Given the description of an element on the screen output the (x, y) to click on. 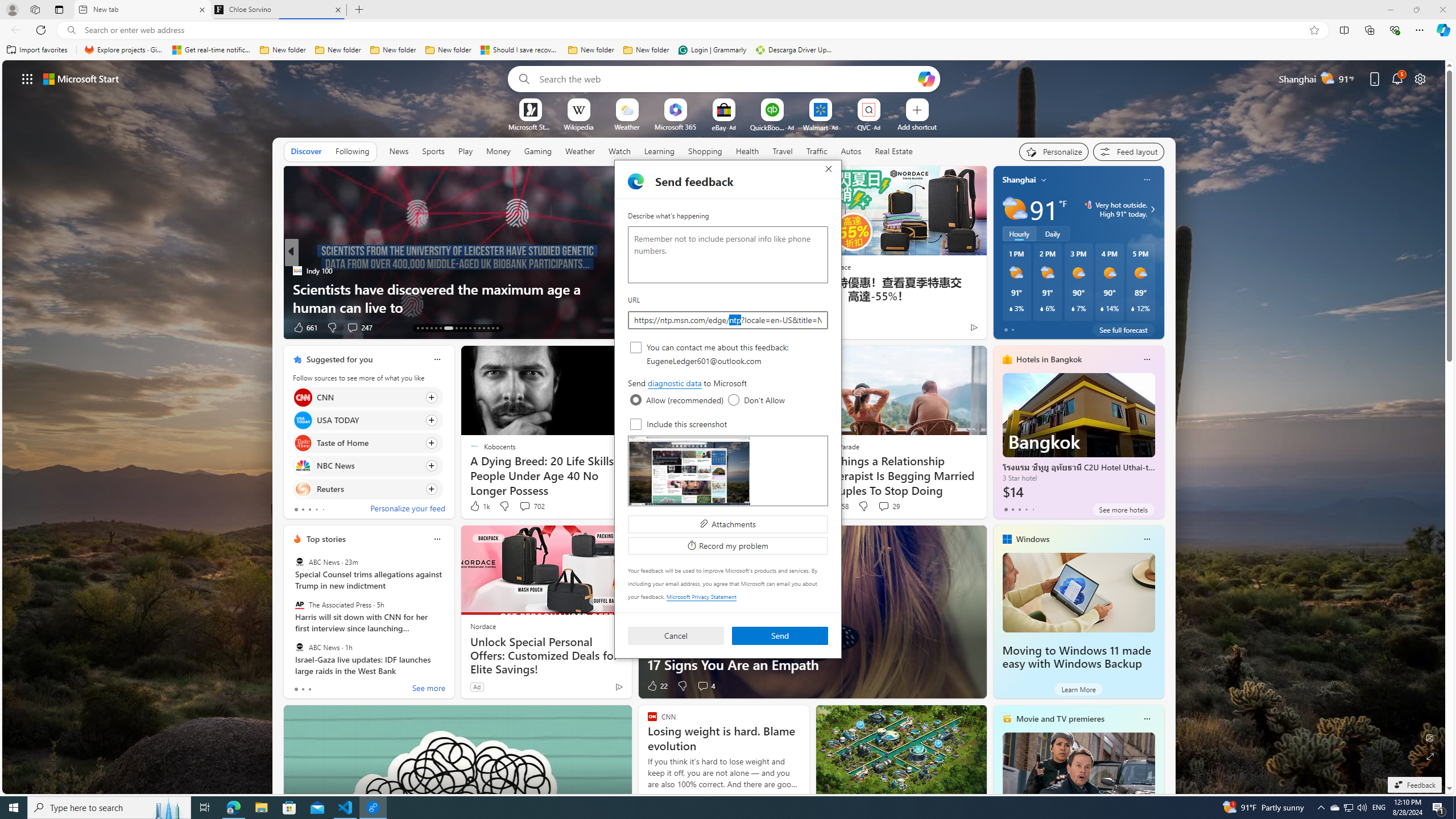
Chloe Sorvino (277, 9)
diagnostic data (674, 383)
Attachments (727, 523)
Favorites bar (728, 49)
Show desktop (1454, 807)
Add a site (916, 126)
Search icon (70, 29)
Taste of Home (302, 443)
Money (498, 151)
Type here to search (108, 807)
AutomationID: tab-39 (483, 328)
